Given the description of an element on the screen output the (x, y) to click on. 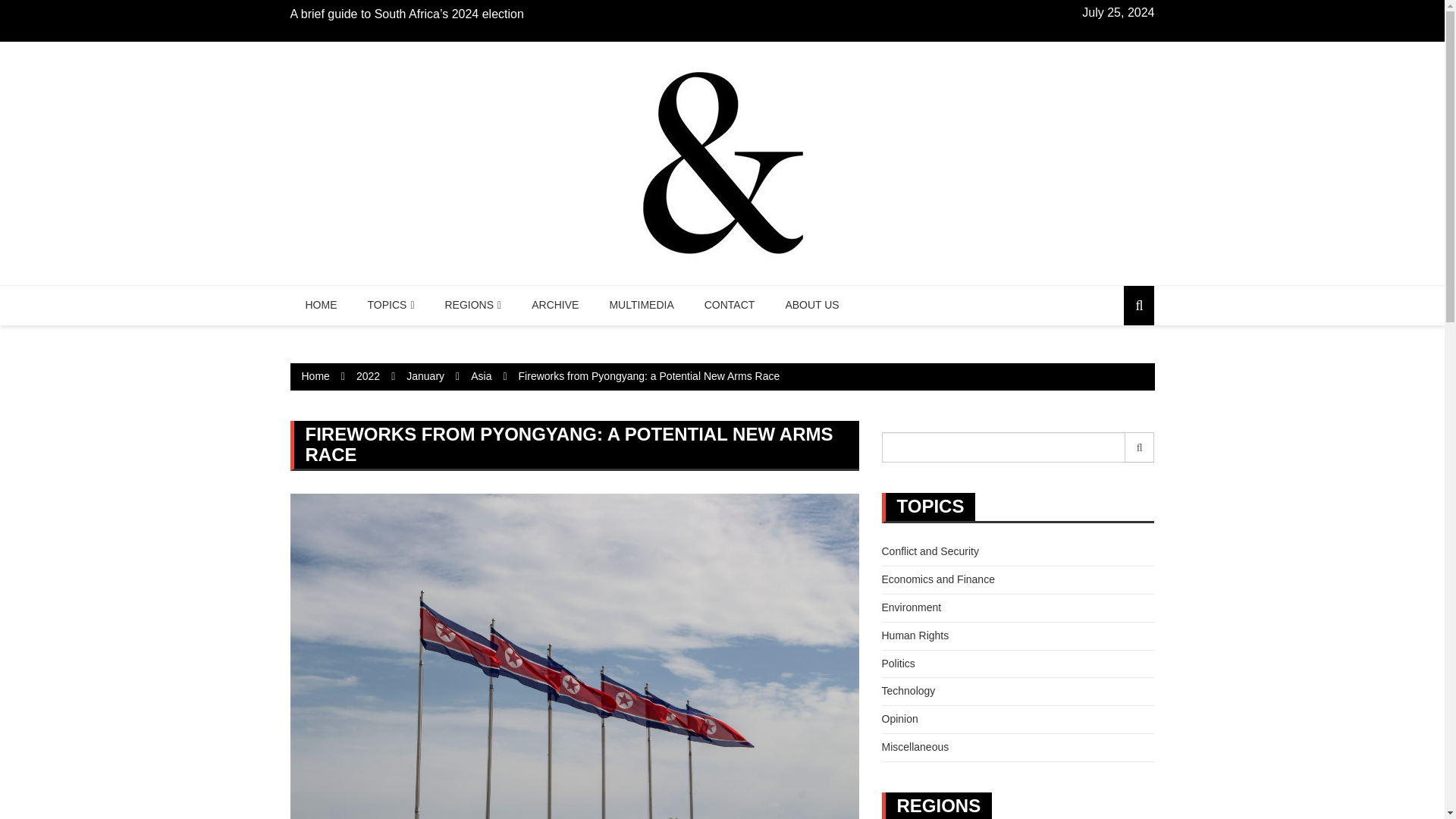
ARCHIVE (555, 305)
Fireworks from Pyongyang: a Potential New Arms Race (649, 376)
REGIONS (472, 305)
ABOUT US (811, 305)
TOPICS (390, 305)
Home (315, 376)
January (425, 376)
Asia (481, 376)
CONTACT (729, 305)
MULTIMEDIA (641, 305)
HOME (320, 305)
2022 (368, 376)
